Given the description of an element on the screen output the (x, y) to click on. 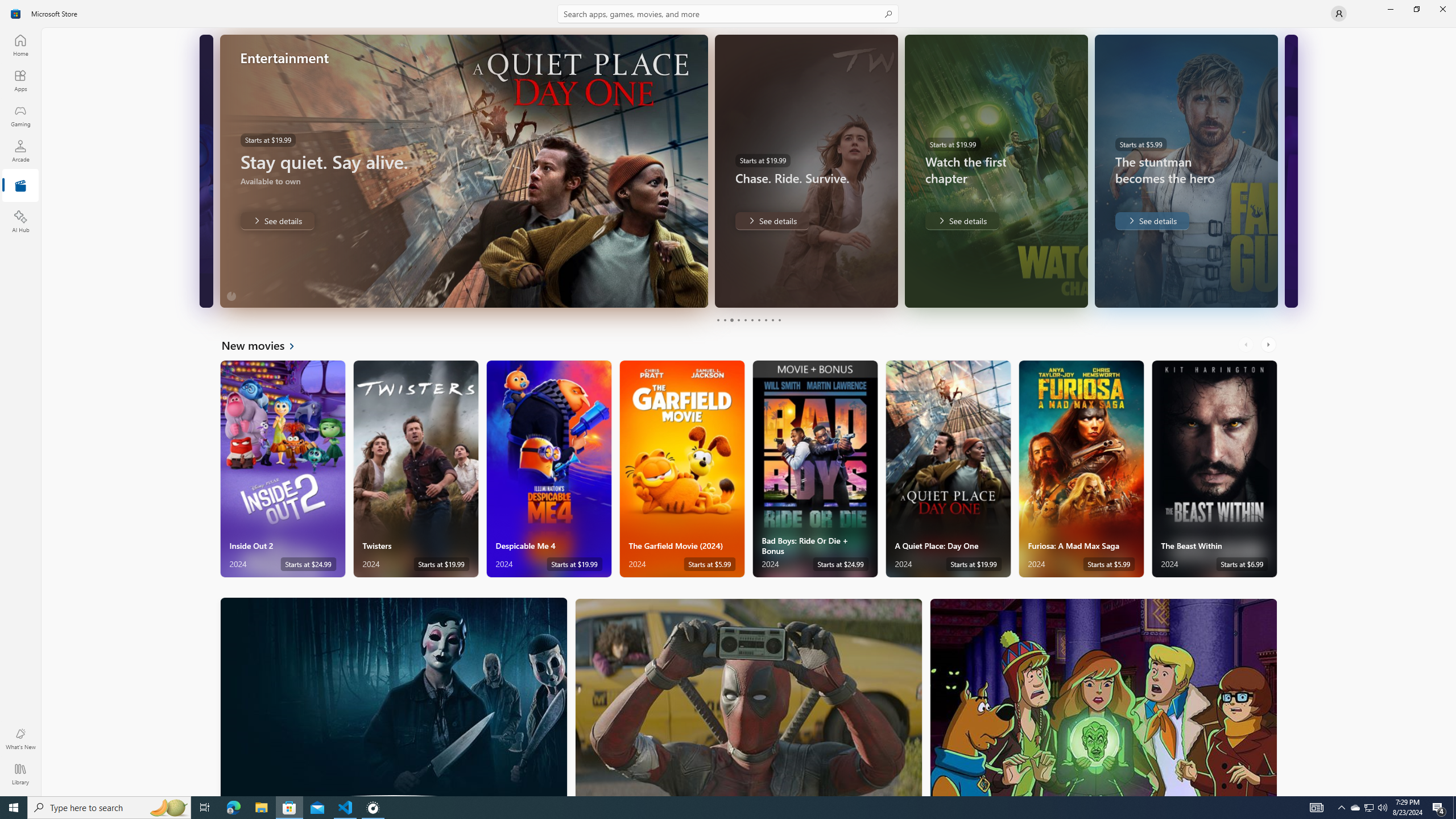
Unmute (202, 291)
The Garfield Movie (2024). Starts at $5.99   (681, 469)
Page 4 (738, 319)
AutomationID: PosterImage (1103, 697)
Page 10 (779, 319)
Search (727, 13)
Apps (20, 80)
Close Microsoft Store (1442, 9)
Page 9 (772, 319)
Page 8 (764, 319)
Page 6 (751, 319)
